Given the description of an element on the screen output the (x, y) to click on. 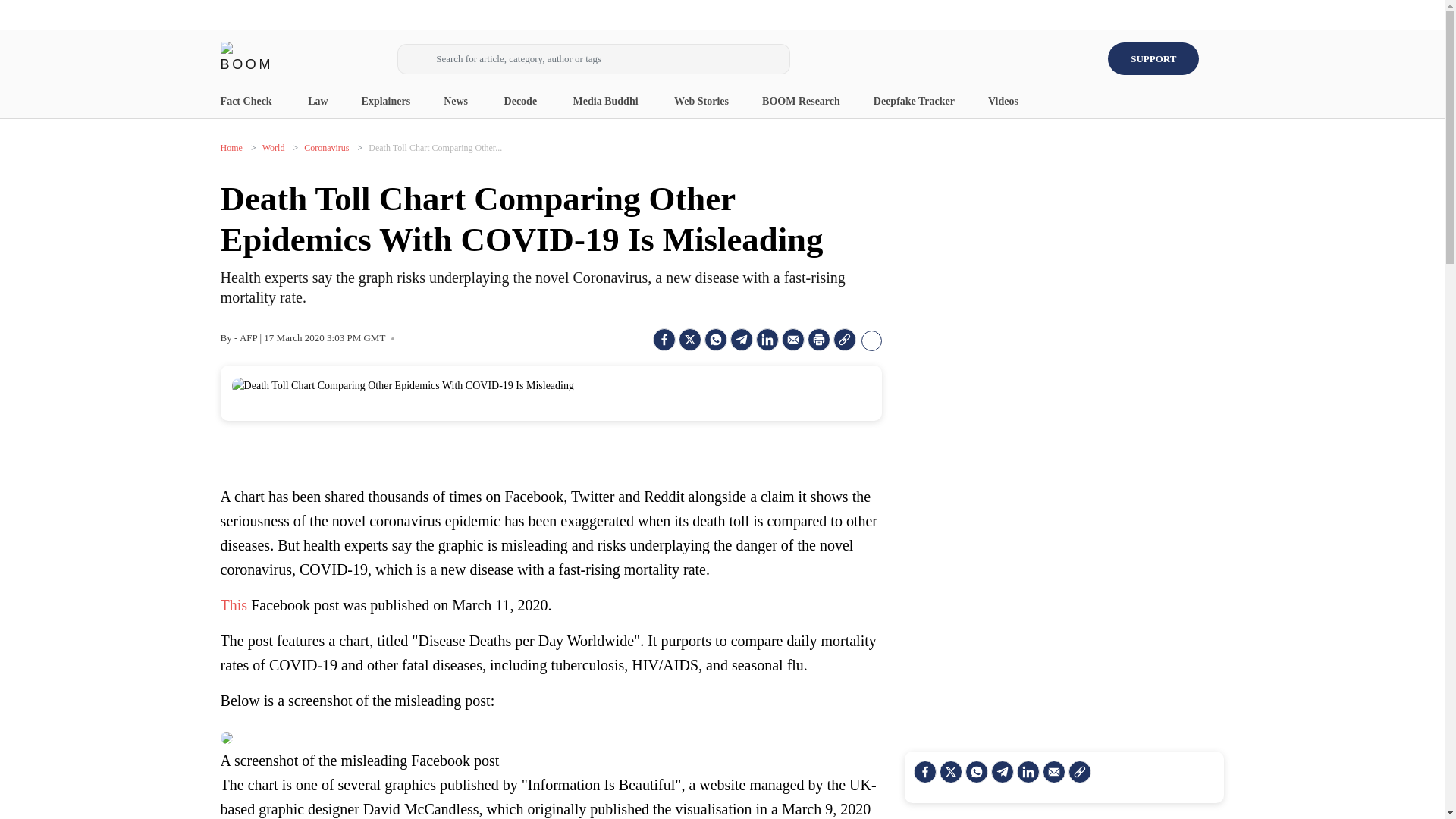
SUPPORT (1153, 59)
Fact Check  (248, 101)
News  (457, 101)
Explainers (385, 101)
Start Search (414, 61)
BOOM Research (800, 101)
Decode  (521, 101)
Deepfake Tracker (914, 101)
Media Buddhi  (606, 101)
Videos  (1004, 101)
